Given the description of an element on the screen output the (x, y) to click on. 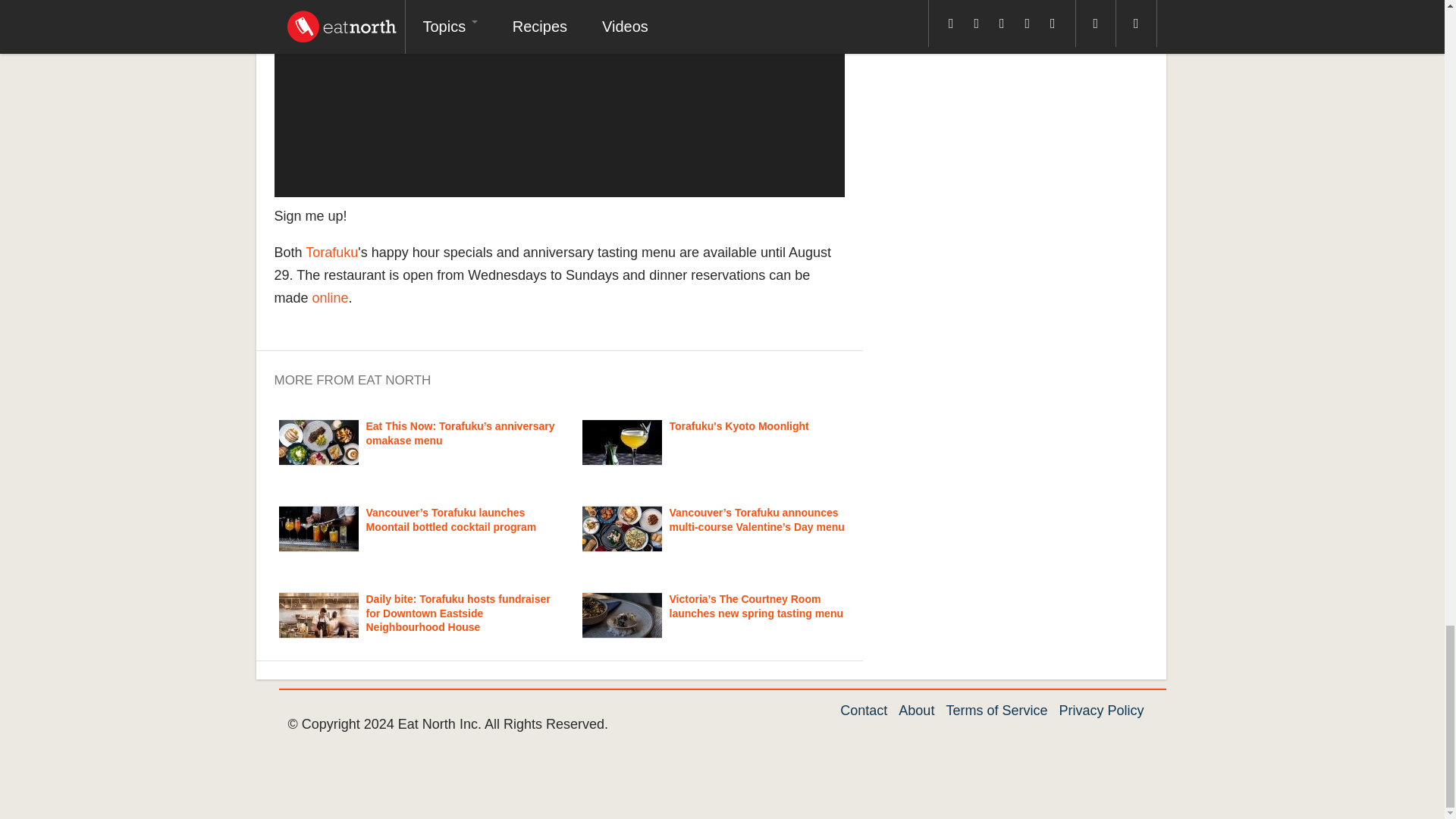
Photos by Leila Kwok (318, 442)
Torafuku's Kyoto Moonlight (738, 426)
Torafuku (331, 252)
online (331, 297)
Photo by Leila Kwok (318, 528)
Image via The Courtney Room's Instagram page (622, 615)
